Given the description of an element on the screen output the (x, y) to click on. 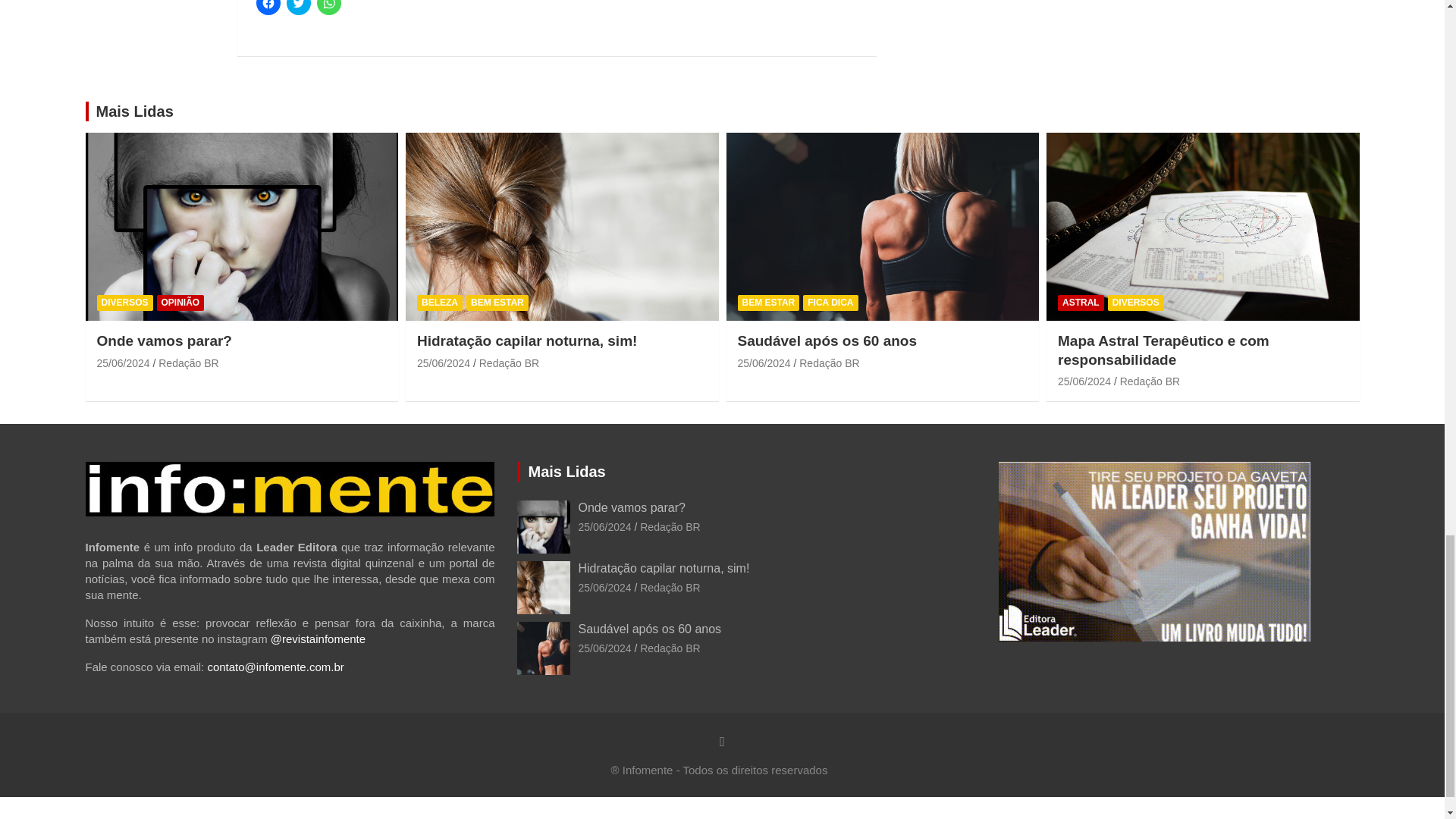
Clique para compartilhar no Twitter (298, 7)
Clique para compartilhar no Facebook (268, 7)
Onde vamos parar? (123, 363)
Clique para compartilhar no WhatsApp (328, 7)
